Given the description of an element on the screen output the (x, y) to click on. 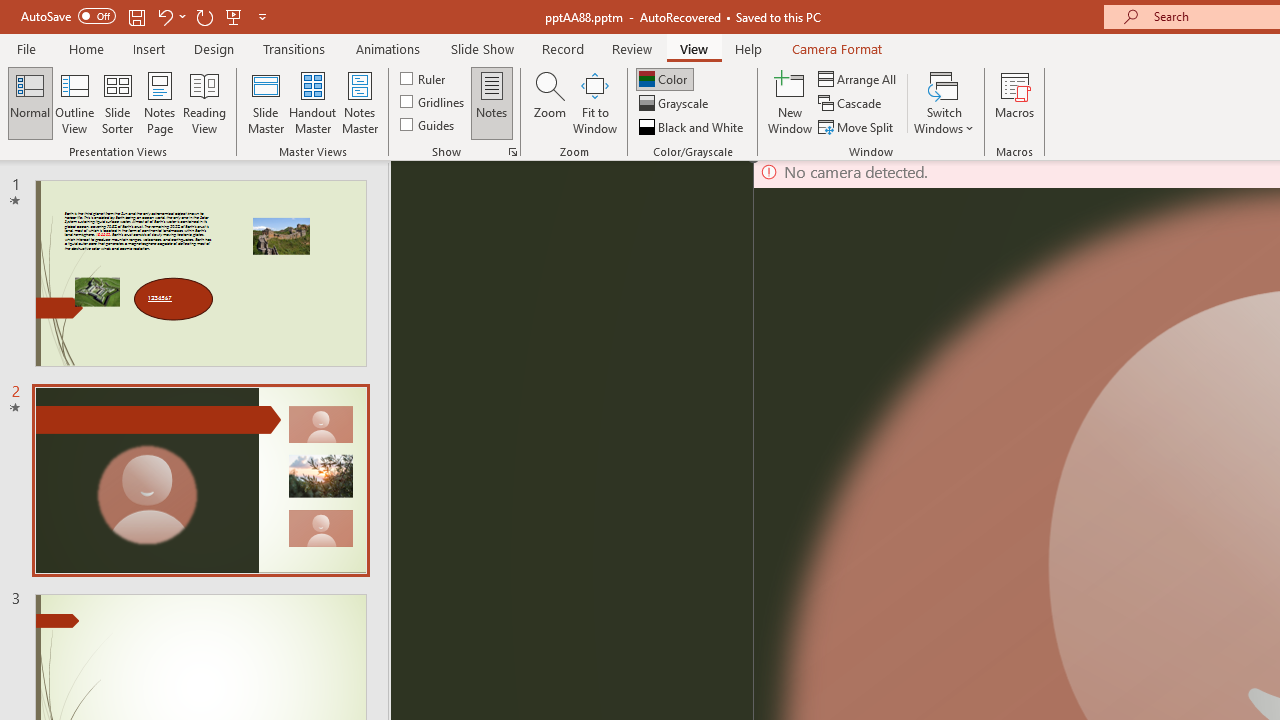
Redo (204, 15)
Gridlines (433, 101)
View (693, 48)
Grayscale (675, 103)
Black and White (693, 126)
Camera Format (836, 48)
Customize Quick Access Toolbar (262, 15)
Grid Settings... (512, 151)
Cascade (851, 103)
Slide Master (265, 102)
